Given the description of an element on the screen output the (x, y) to click on. 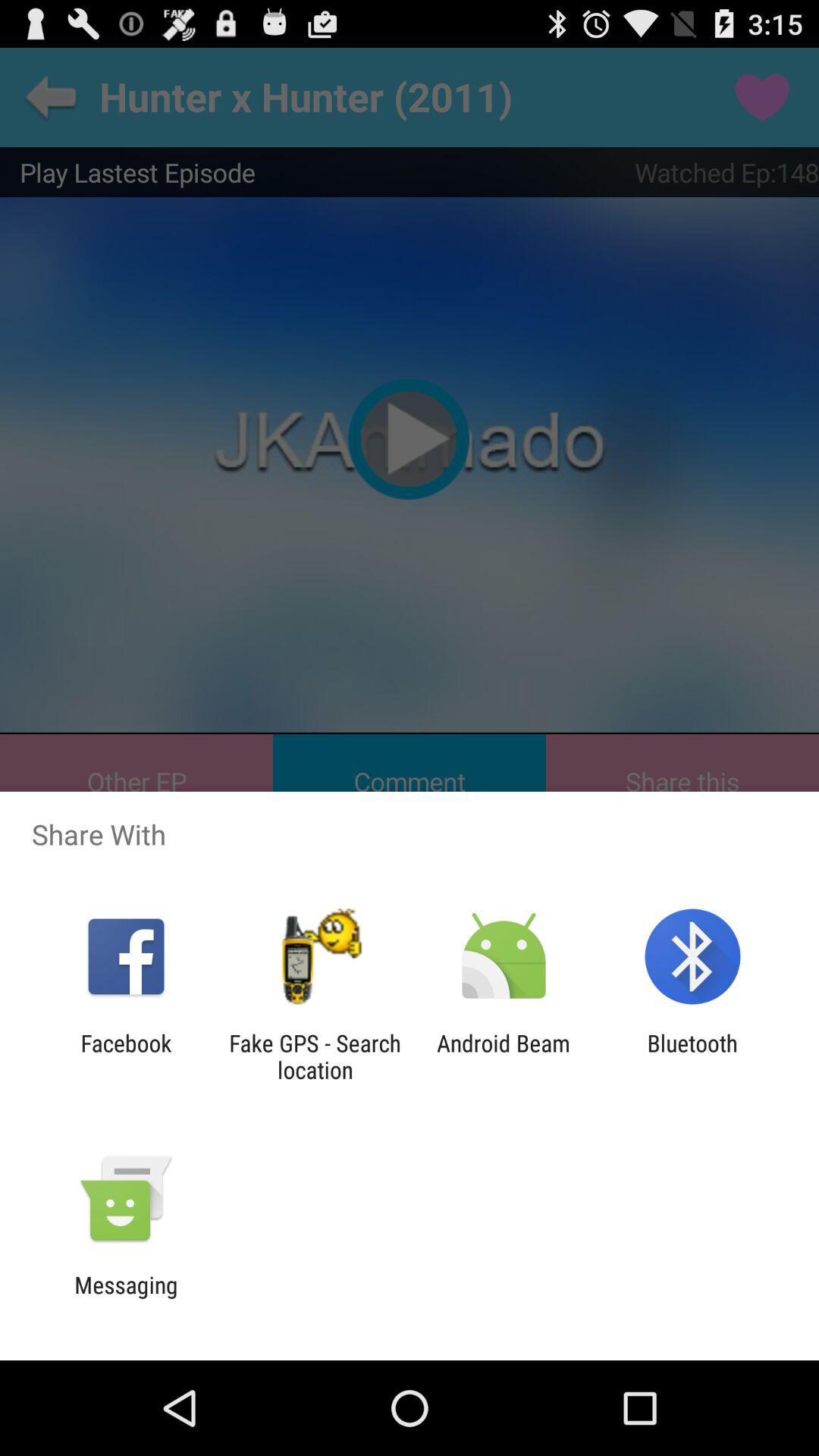
launch the app next to the android beam (692, 1056)
